Given the description of an element on the screen output the (x, y) to click on. 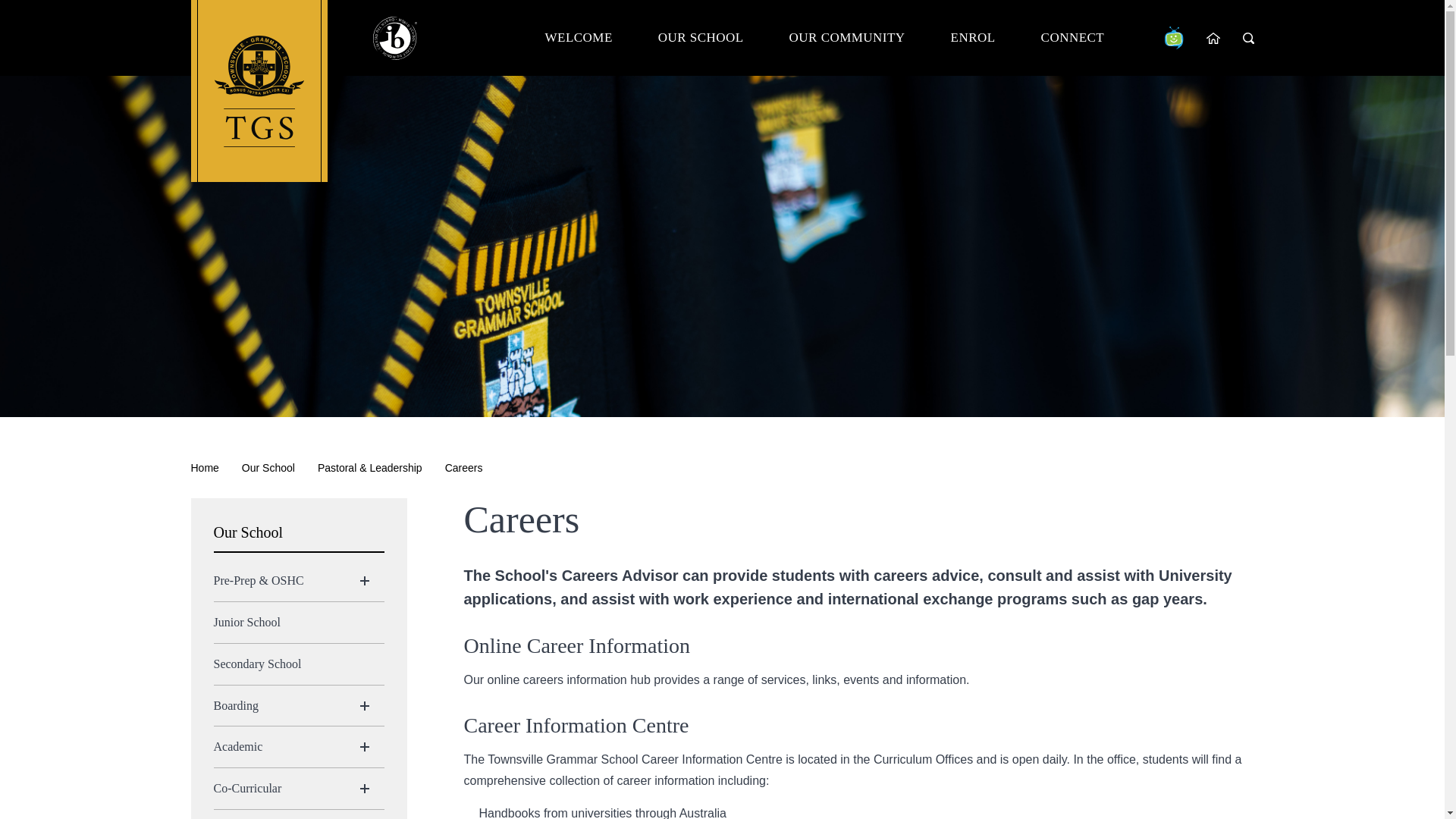
WELCOME (578, 37)
OUR SCHOOL (701, 37)
Welcome (578, 37)
Our School (701, 37)
